Given the description of an element on the screen output the (x, y) to click on. 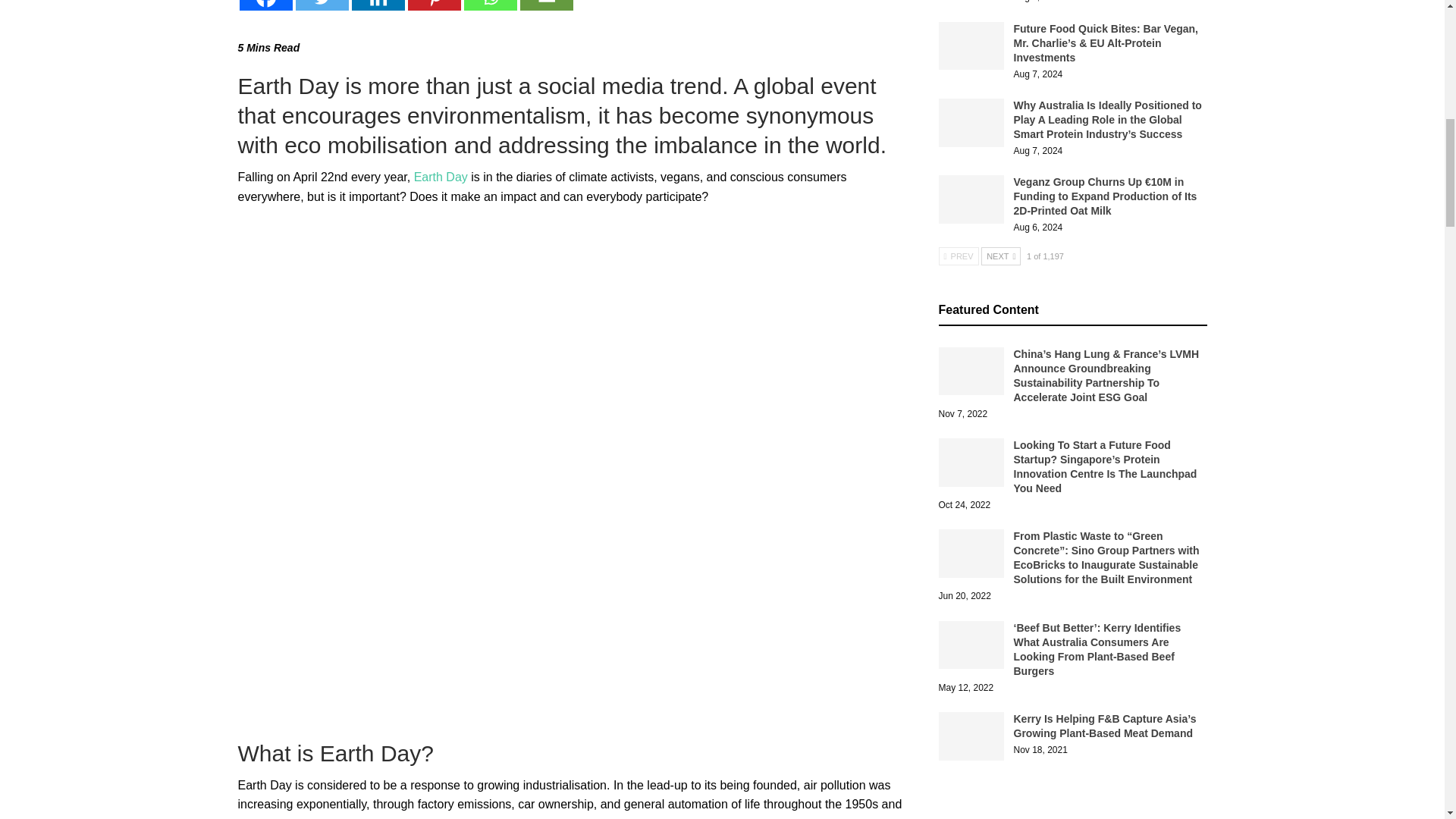
Whatsapp (490, 5)
Pinterest (434, 5)
Twitter (322, 5)
Email (546, 5)
Facebook (266, 5)
Earth Day (440, 176)
Linkedin (378, 5)
